Given the description of an element on the screen output the (x, y) to click on. 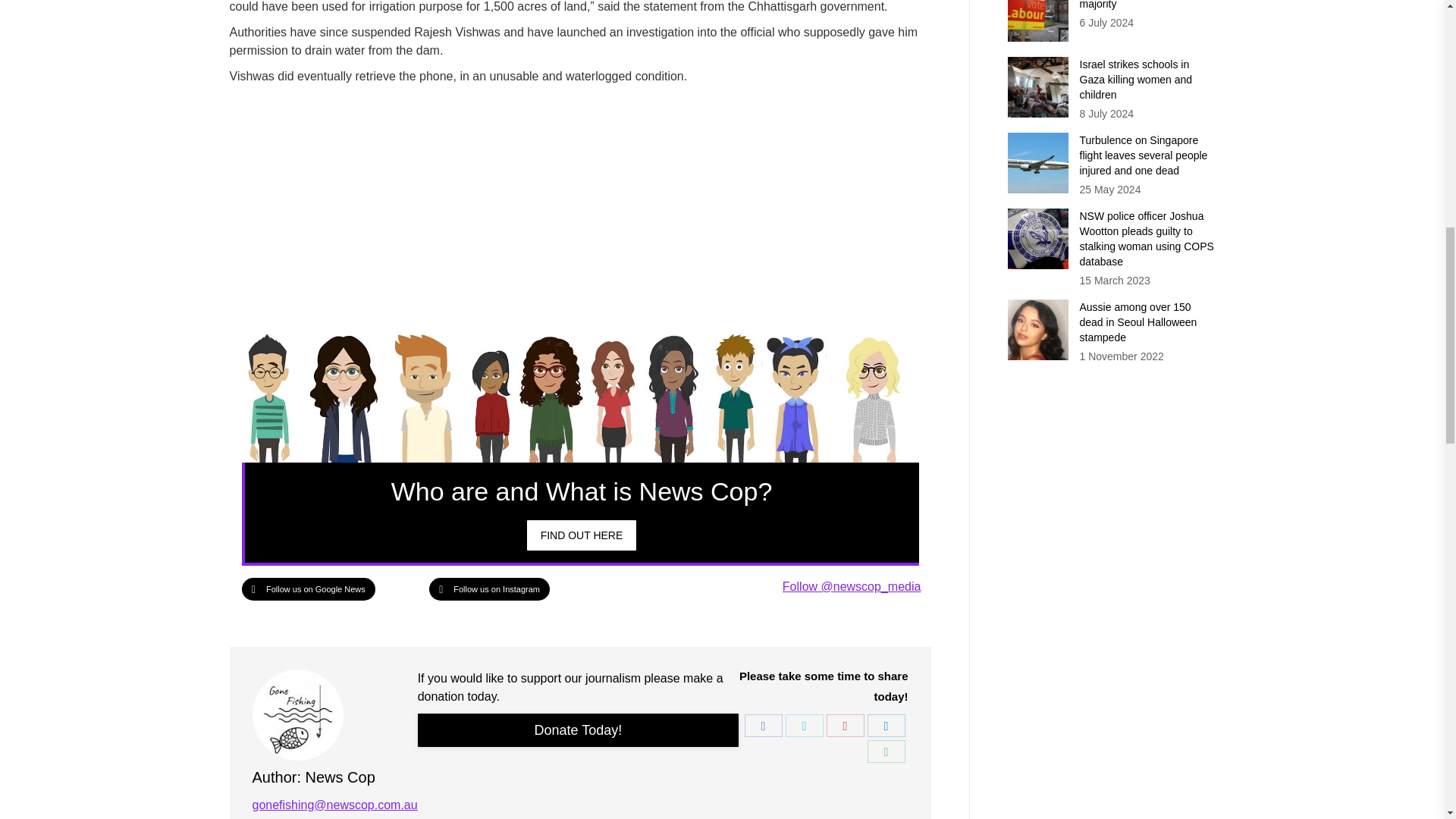
Complaints Form (578, 729)
Twitter (805, 725)
HD people heads (579, 395)
Pinterest (845, 725)
Facebook (763, 725)
Protests in Solomon Islands result in lockdown (582, 535)
